Given the description of an element on the screen output the (x, y) to click on. 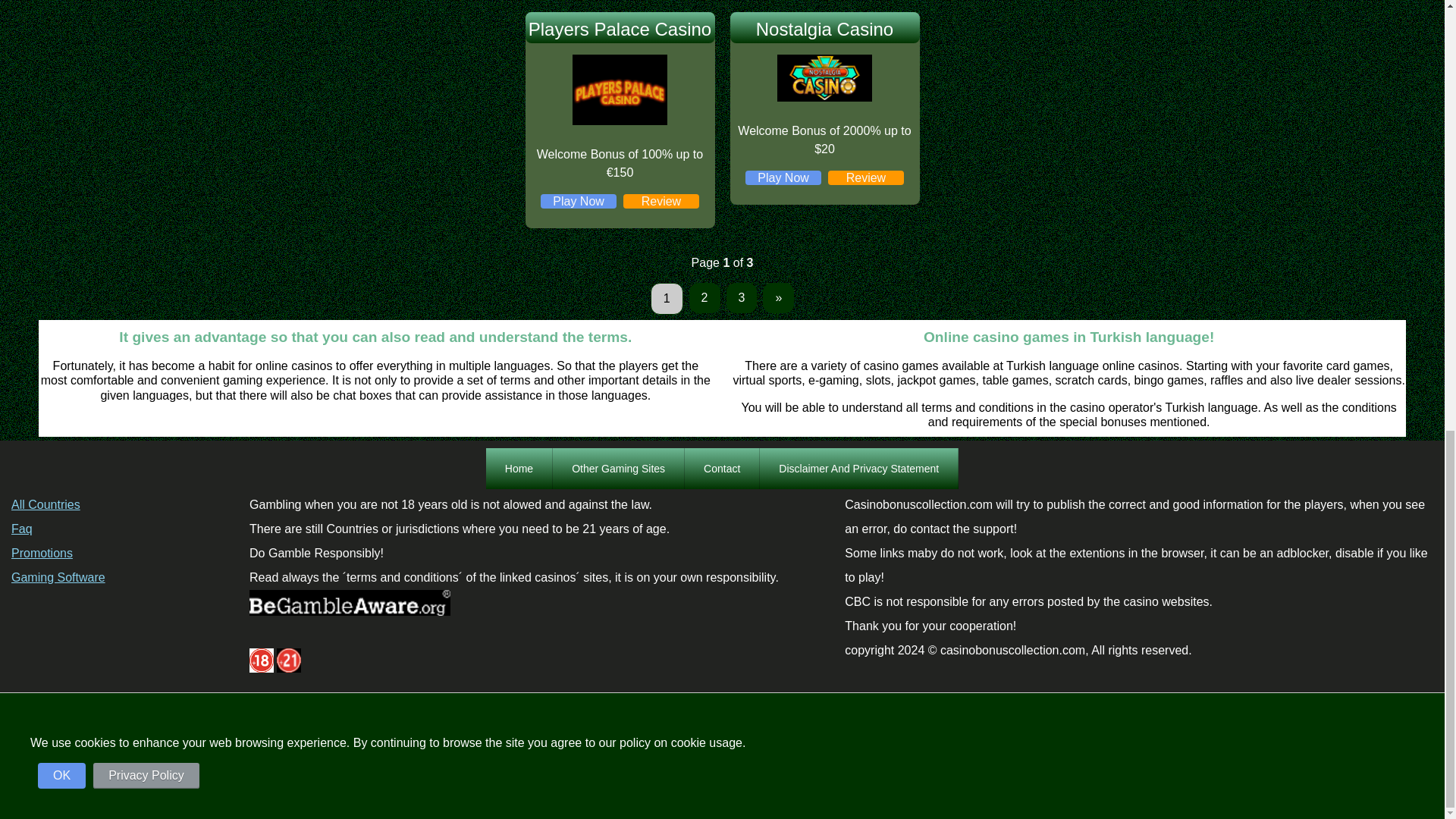
Home (518, 467)
Links (618, 467)
Disclaimer And Privacy Statement (859, 467)
BeGambleAware (348, 602)
BeGambleAware (348, 611)
